Given the description of an element on the screen output the (x, y) to click on. 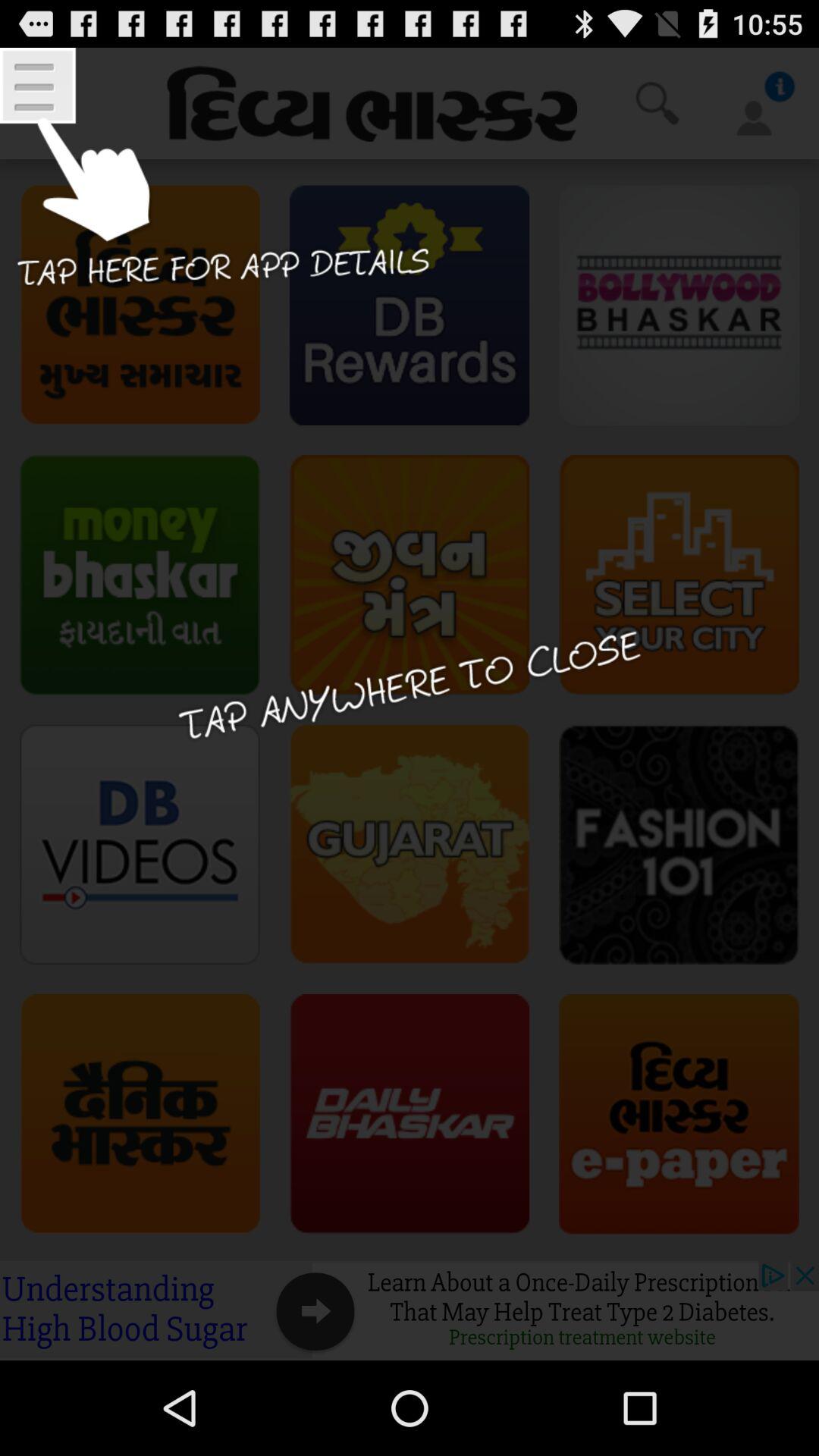
tap anywhere to close (409, 703)
